Given the description of an element on the screen output the (x, y) to click on. 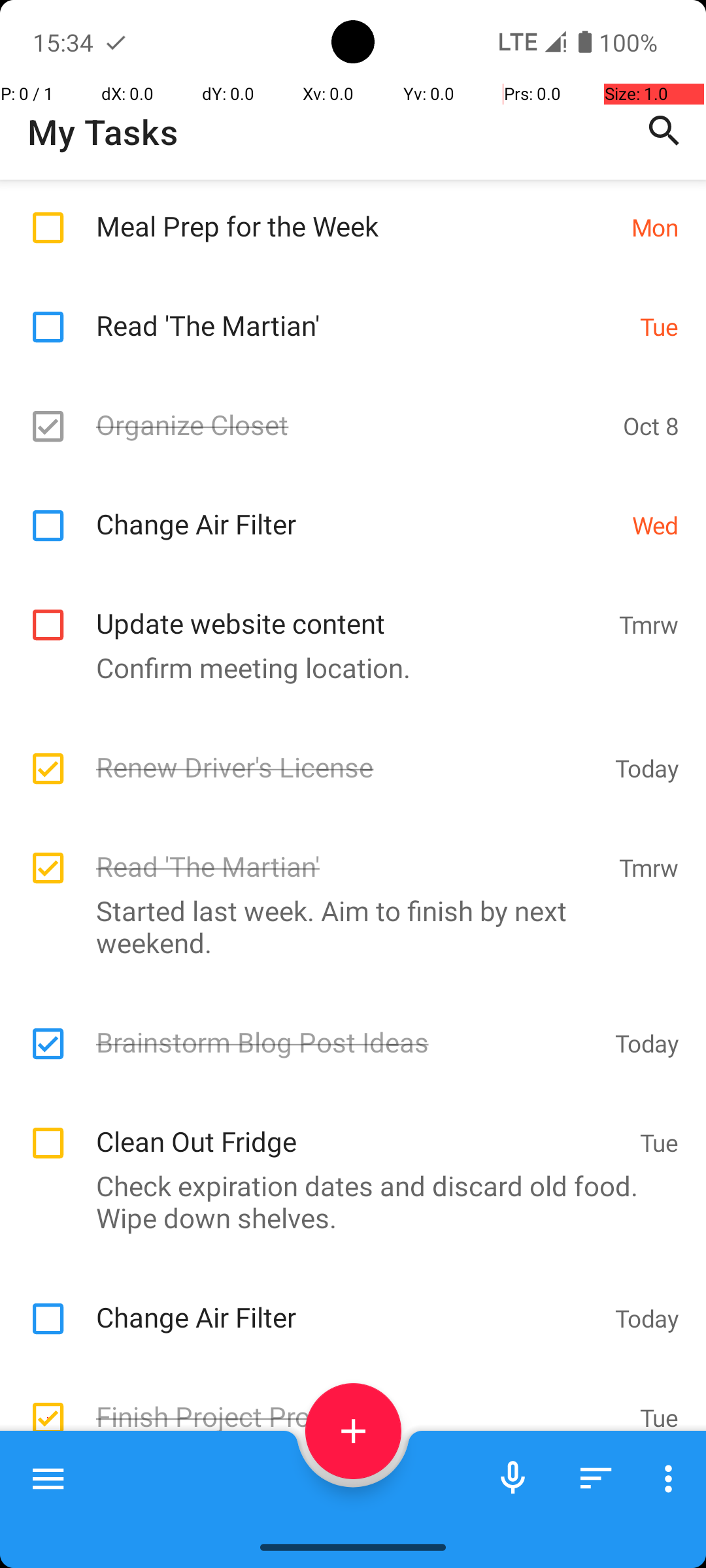
Update website content Element type: android.widget.TextView (350, 608)
Confirm meeting location. Element type: android.widget.TextView (346, 667)
